Given the description of an element on the screen output the (x, y) to click on. 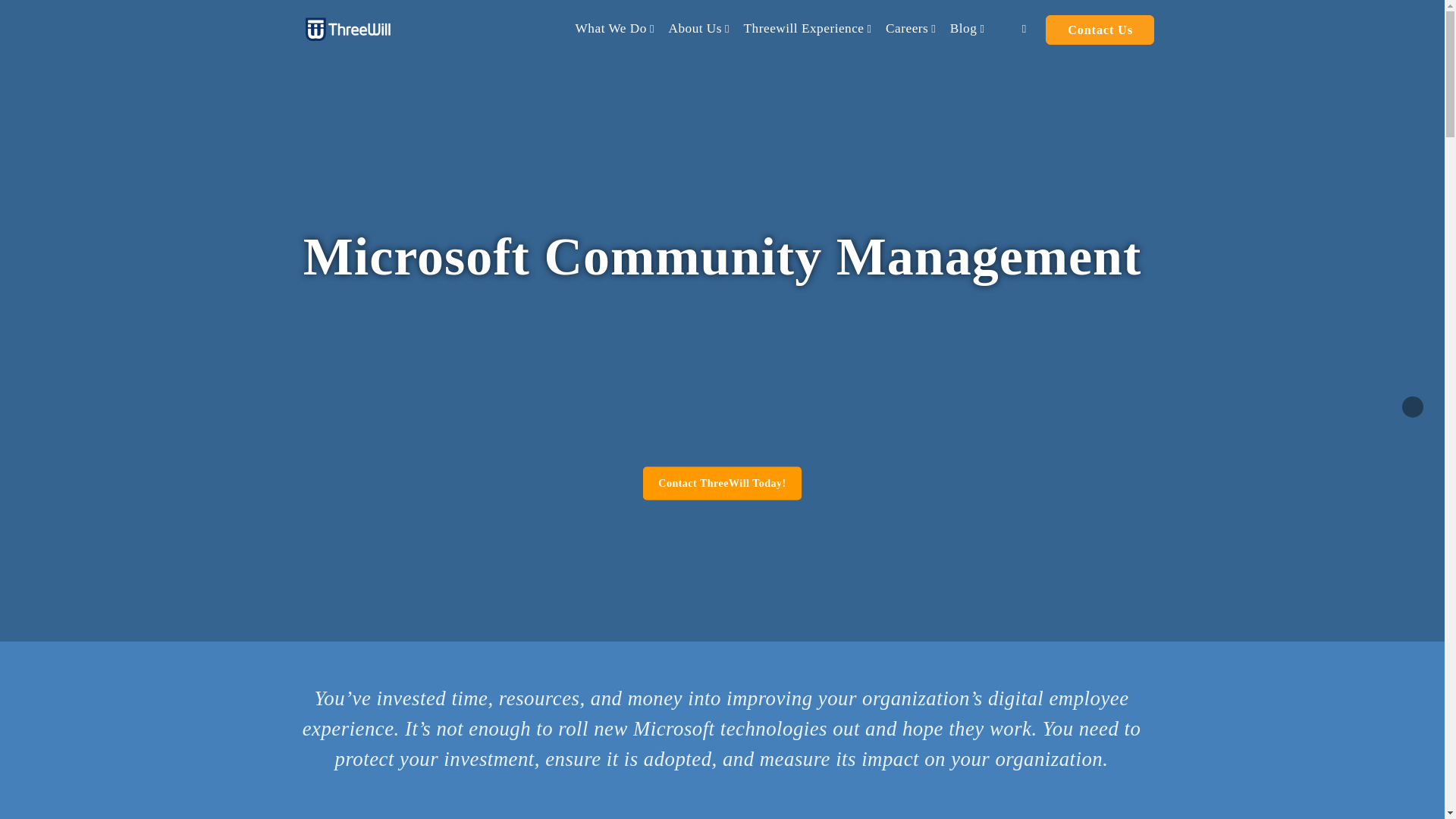
Careers (910, 28)
What We Do (614, 28)
About Us (698, 28)
Contact ThreeWill Today! (721, 483)
Blog (967, 28)
Contact Us (721, 483)
Threewill Experience (808, 28)
Contact Us (1099, 30)
